Given the description of an element on the screen output the (x, y) to click on. 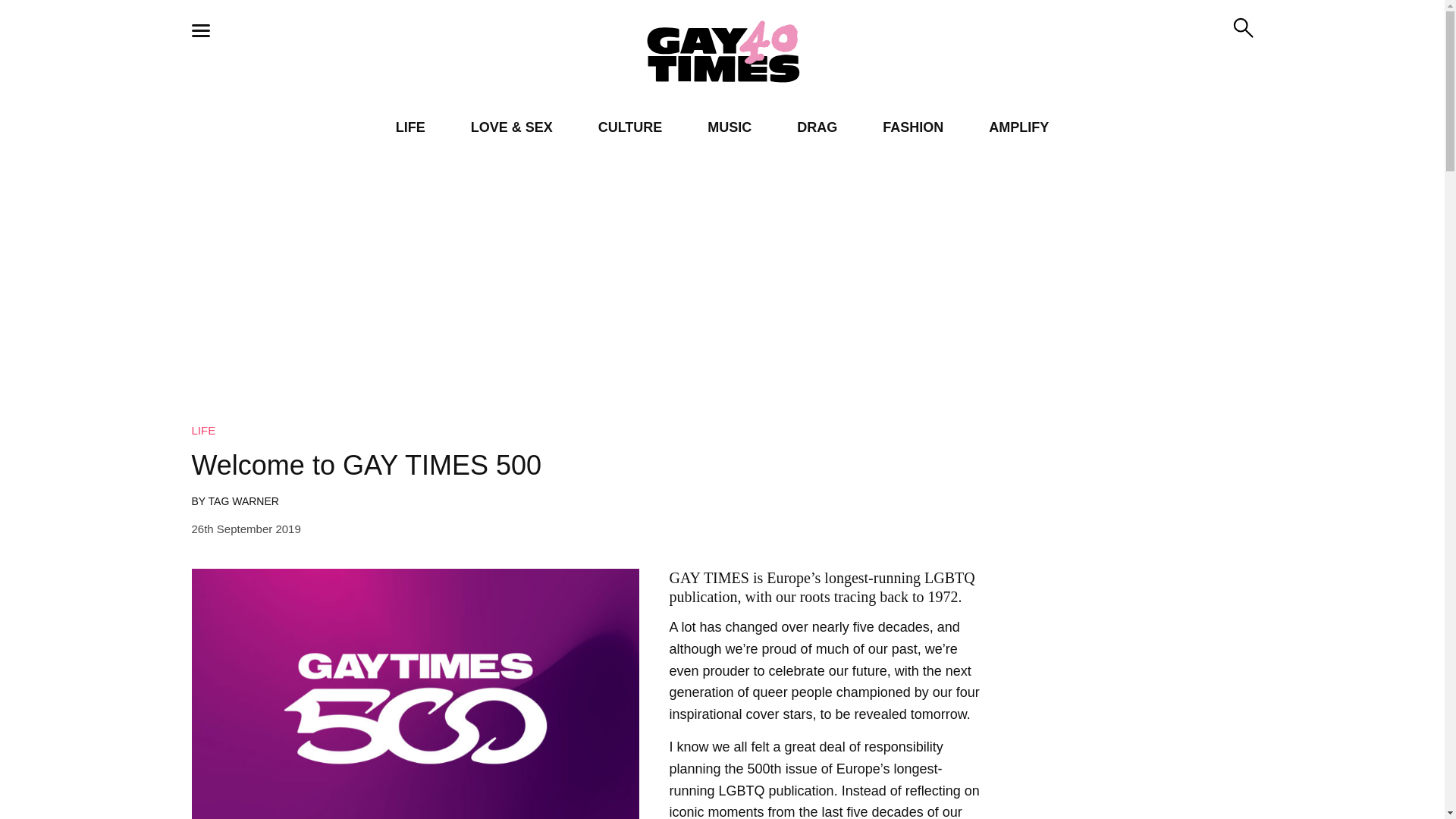
LIFE (410, 127)
DRAG (816, 127)
CULTURE (630, 127)
AMPLIFY (1018, 127)
TAG WARNER (243, 500)
MUSIC (729, 127)
FASHION (912, 127)
LIFE (202, 430)
